Given the description of an element on the screen output the (x, y) to click on. 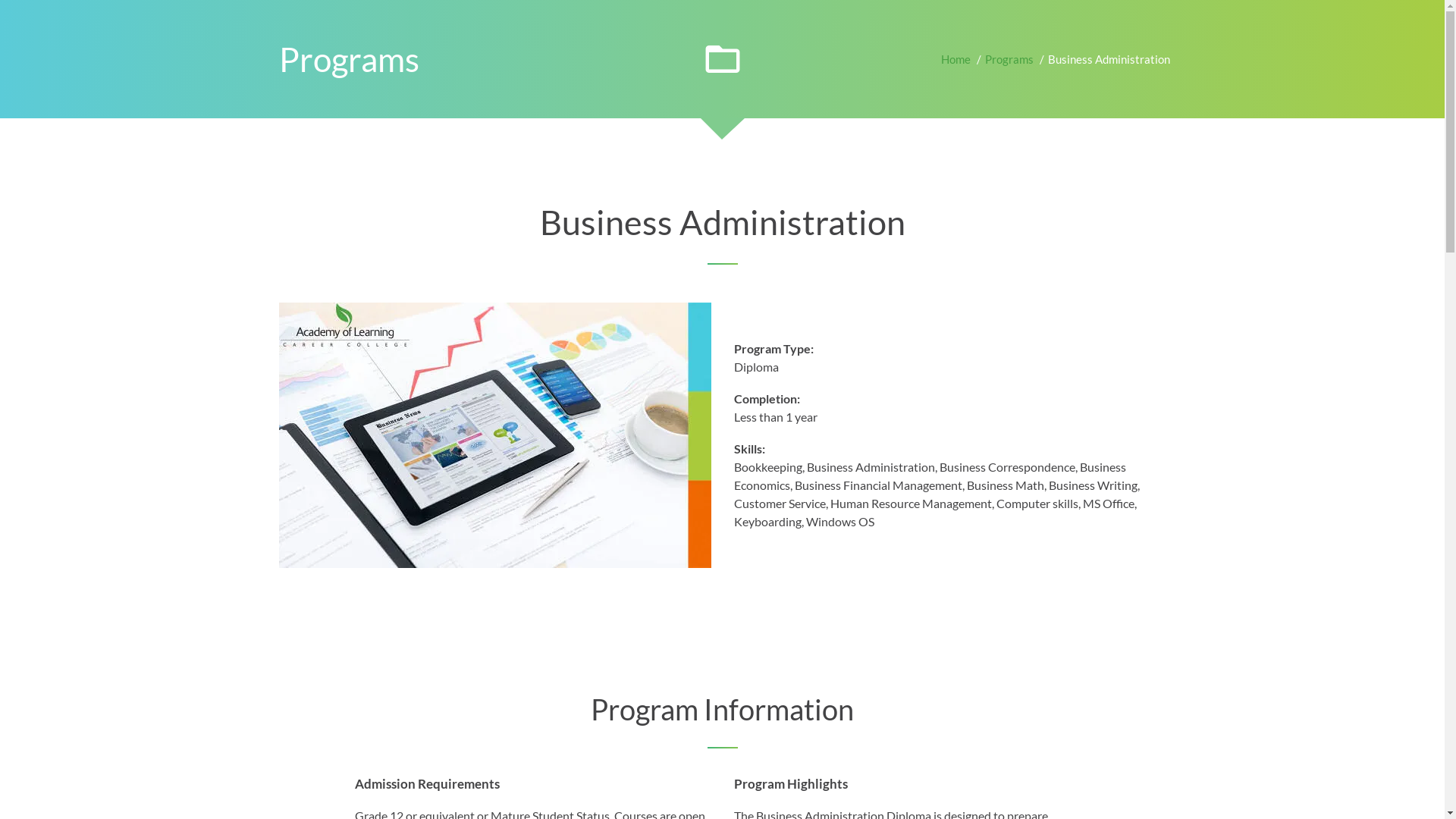
Home Element type: text (954, 58)
Programs Element type: text (1008, 58)
